Given the description of an element on the screen output the (x, y) to click on. 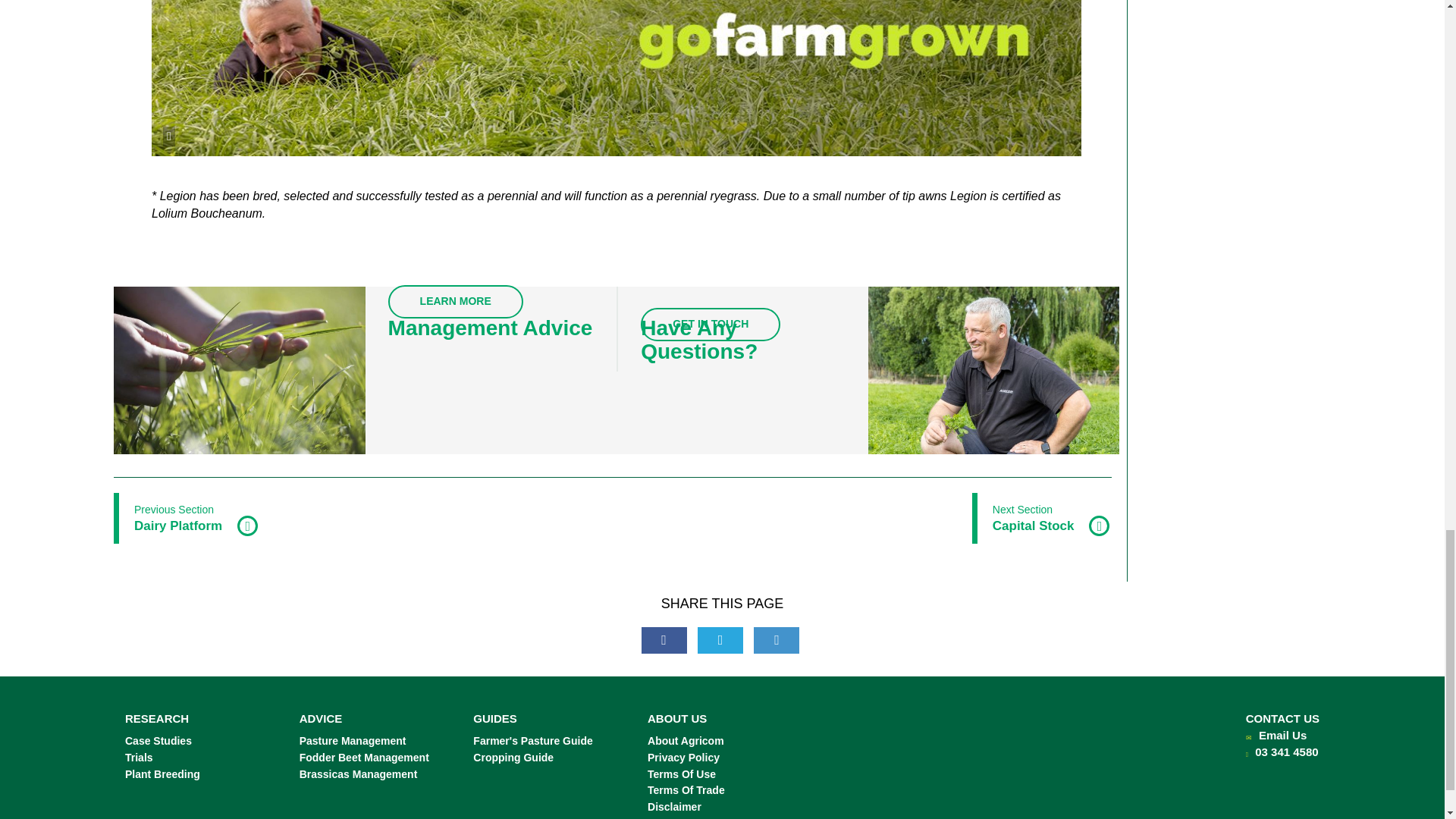
Share page via Twitter (719, 640)
"Capital Stock" (1042, 518)
"Dairy Platform" (186, 518)
Share page via Linkedin (776, 640)
Share page via Facebook (664, 640)
